Given the description of an element on the screen output the (x, y) to click on. 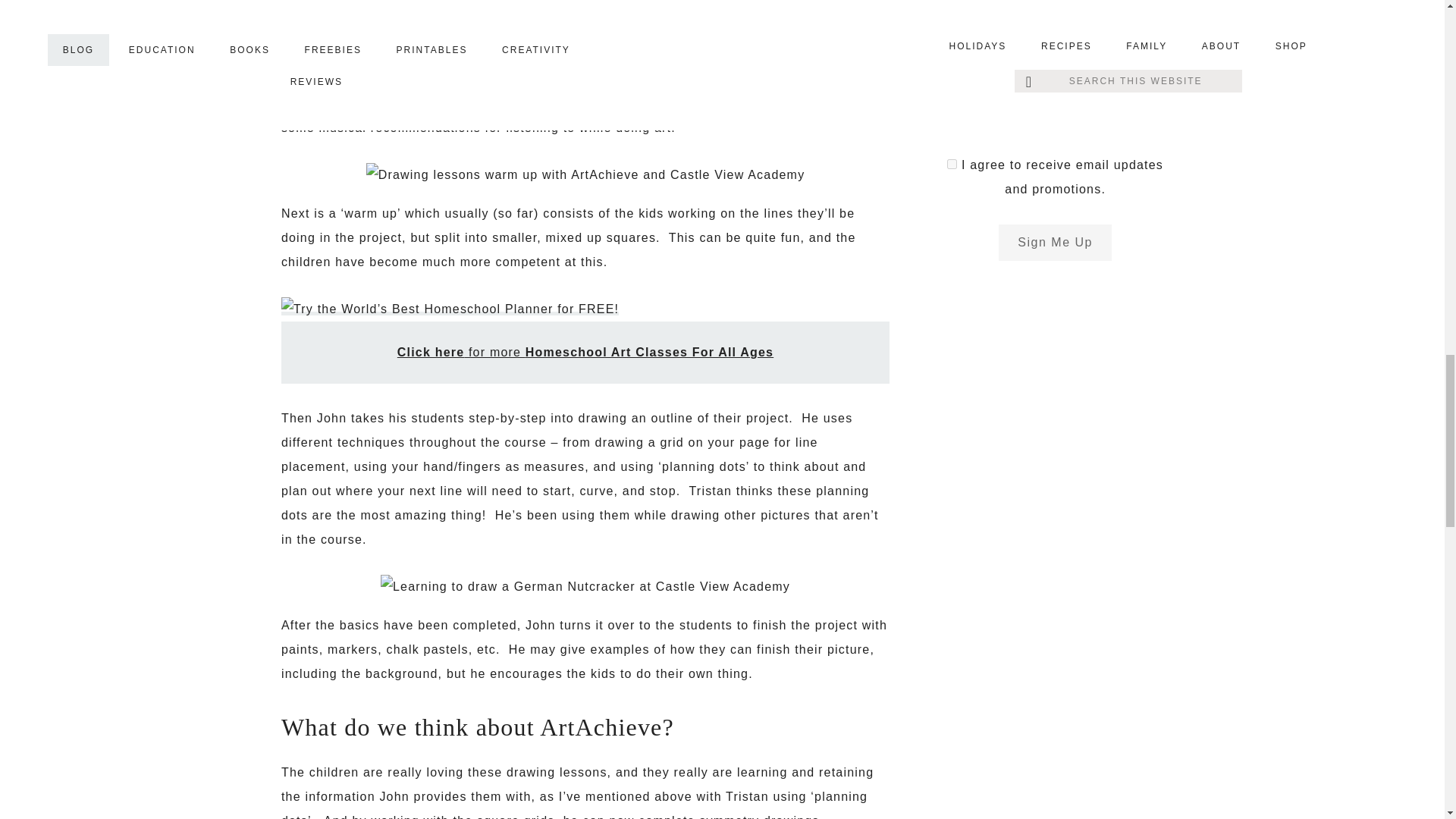
1 (951, 163)
